Given the description of an element on the screen output the (x, y) to click on. 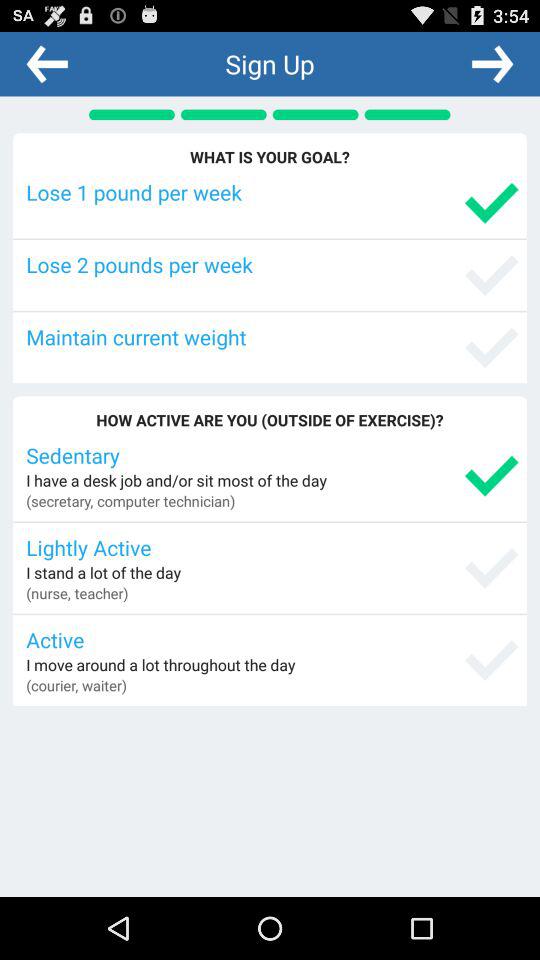
go to next screen (492, 63)
